Given the description of an element on the screen output the (x, y) to click on. 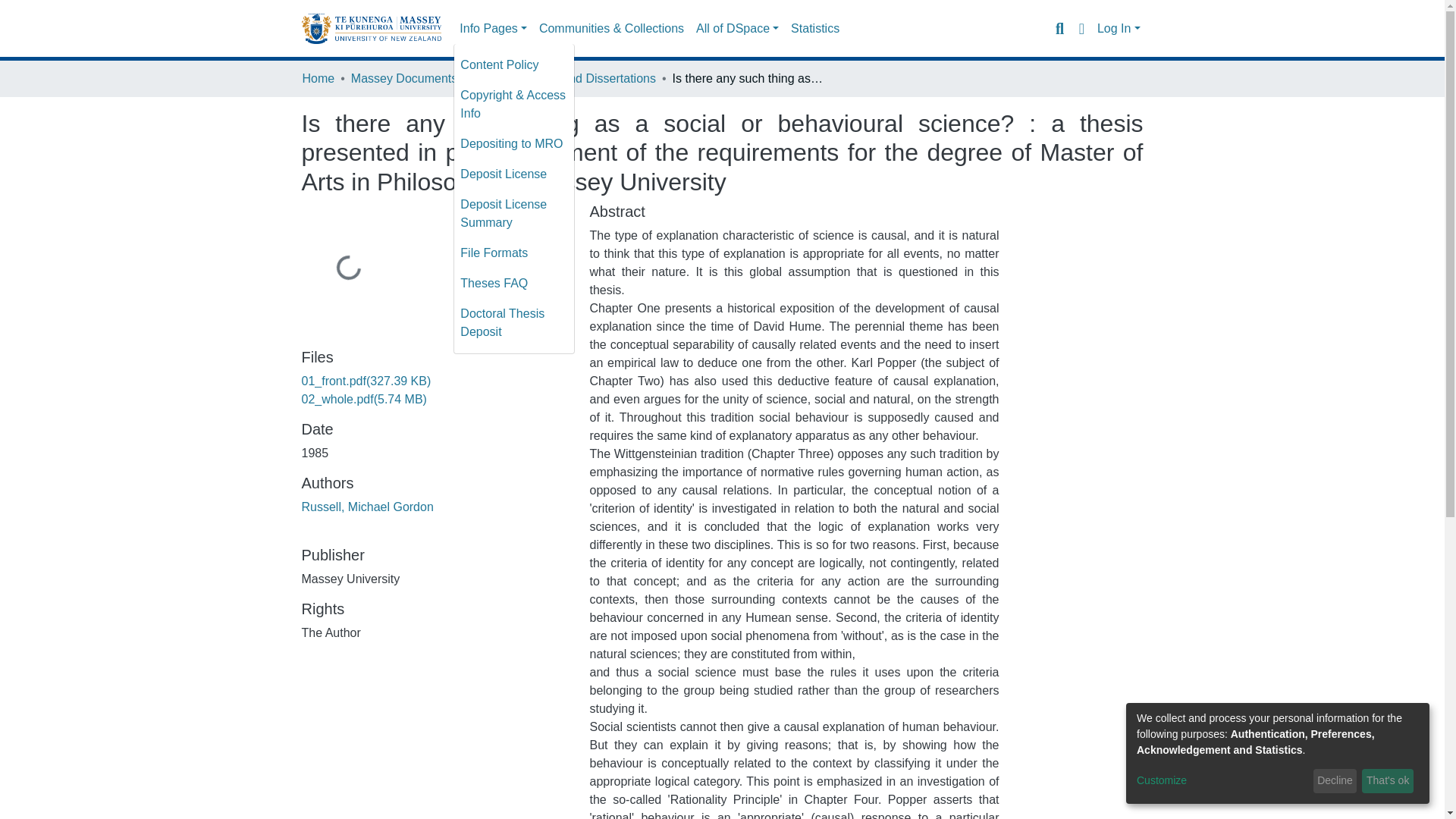
All of DSpace (737, 28)
Search (1058, 28)
Massey Documents by Type (426, 78)
Language switch (1081, 28)
Theses and Dissertations (587, 78)
Info Pages (492, 28)
Deposit License Summary (513, 213)
File Formats (513, 253)
Depositing to MRO (513, 143)
Log In (1118, 28)
Home (317, 78)
Theses FAQ (513, 283)
Deposit License (513, 173)
Doctoral Thesis Deposit (513, 322)
Statistics (814, 28)
